Given the description of an element on the screen output the (x, y) to click on. 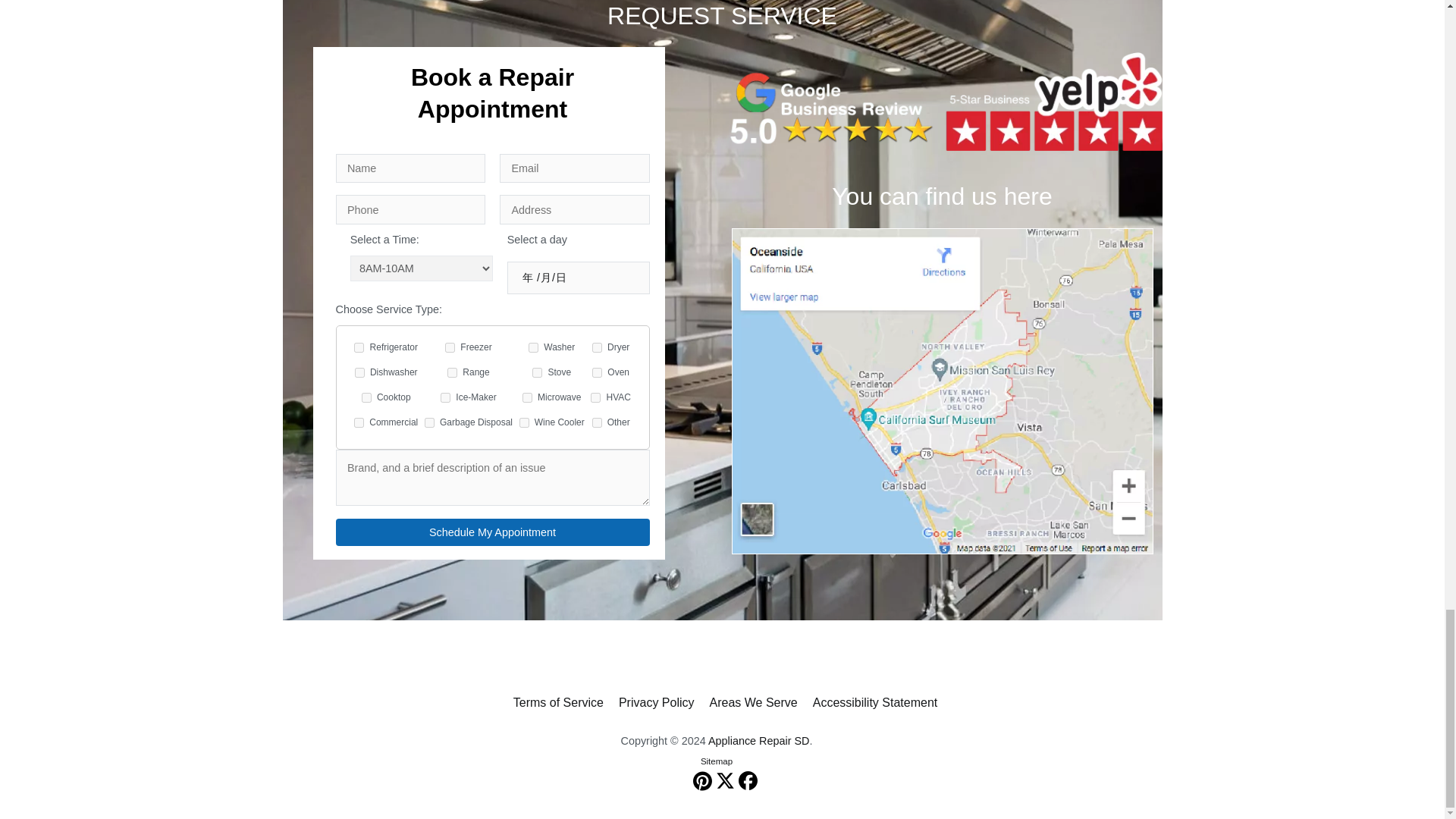
Ice-Maker (445, 397)
HVAC (595, 397)
Oven (597, 372)
Dryer (597, 347)
Dishwasher (360, 372)
Garbage Disposal (429, 422)
Freezer (449, 347)
Microwave (527, 397)
Wine Cooler (524, 422)
Commercial (358, 422)
